Given the description of an element on the screen output the (x, y) to click on. 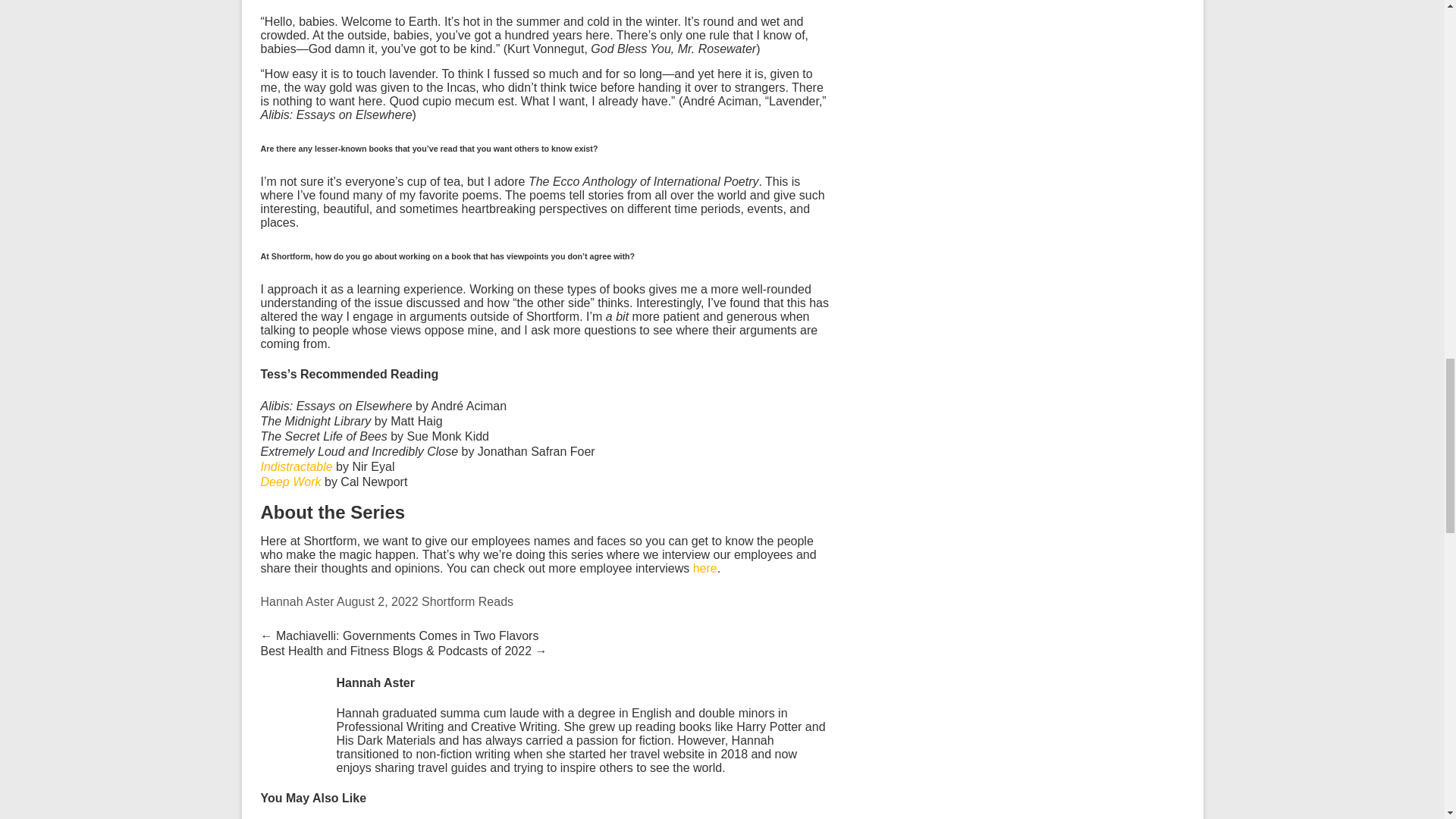
Deep Work (290, 481)
Shortform Reads (467, 601)
9:00 am (377, 601)
Hannah Aster (297, 601)
August 2, 2022 (377, 601)
Indistractable (296, 466)
here (705, 567)
